Given the description of an element on the screen output the (x, y) to click on. 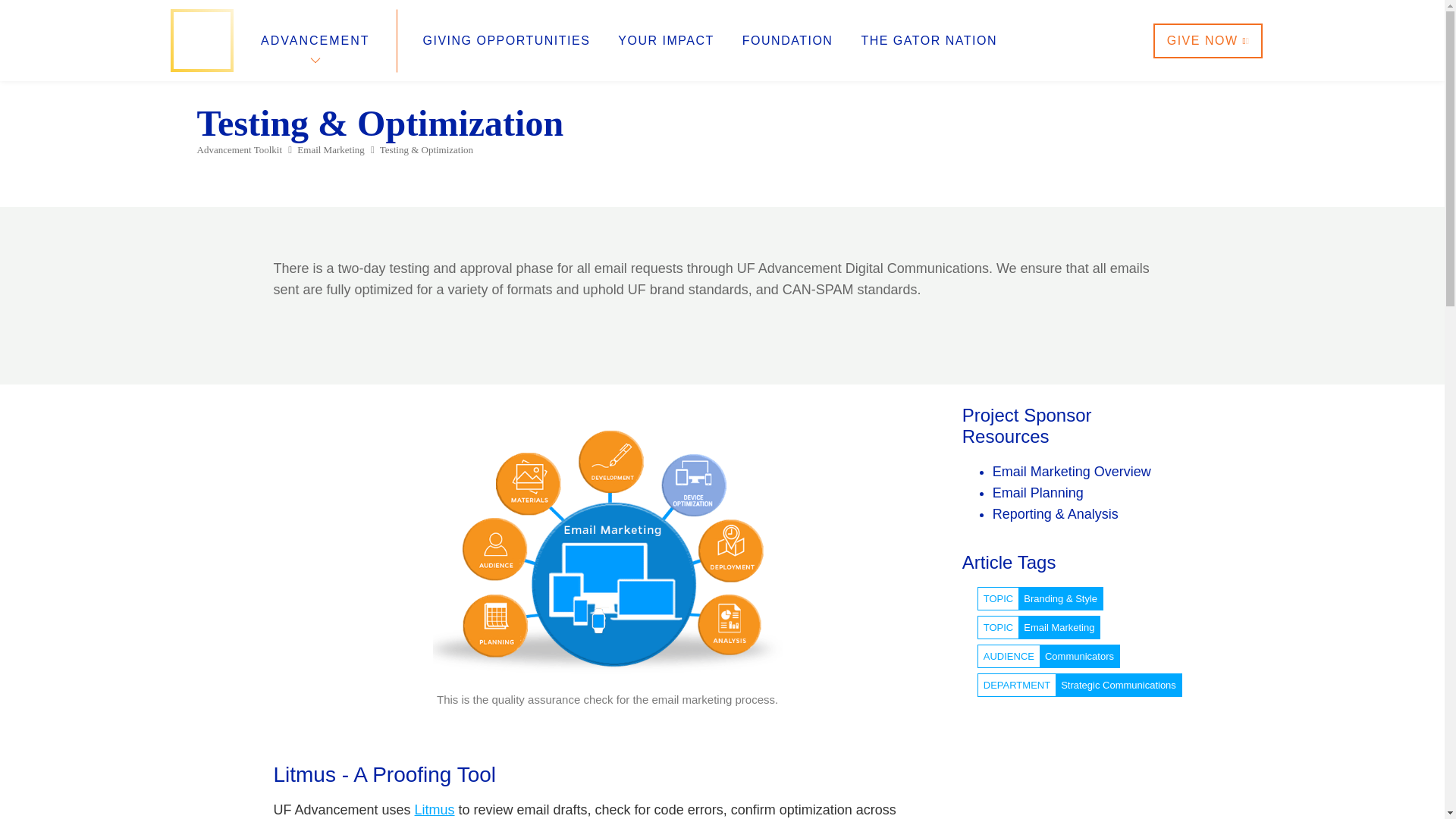
Litmus (434, 809)
Email Marketing Overview (1071, 471)
GIVING OPPORTUNITIES (507, 40)
AUDIENCECommunicators (1047, 654)
GIVE NOW (1207, 39)
YOUR IMPACT (665, 40)
Advancement Toolkit (239, 149)
THE GATOR NATION (928, 40)
Email Planning (1037, 492)
DEPARTMENTStrategic Communications (1079, 683)
Email Marketing (330, 149)
TOPICEmail Marketing (1038, 626)
FOUNDATION (787, 40)
ADVANCEMENT (314, 40)
